Given the description of an element on the screen output the (x, y) to click on. 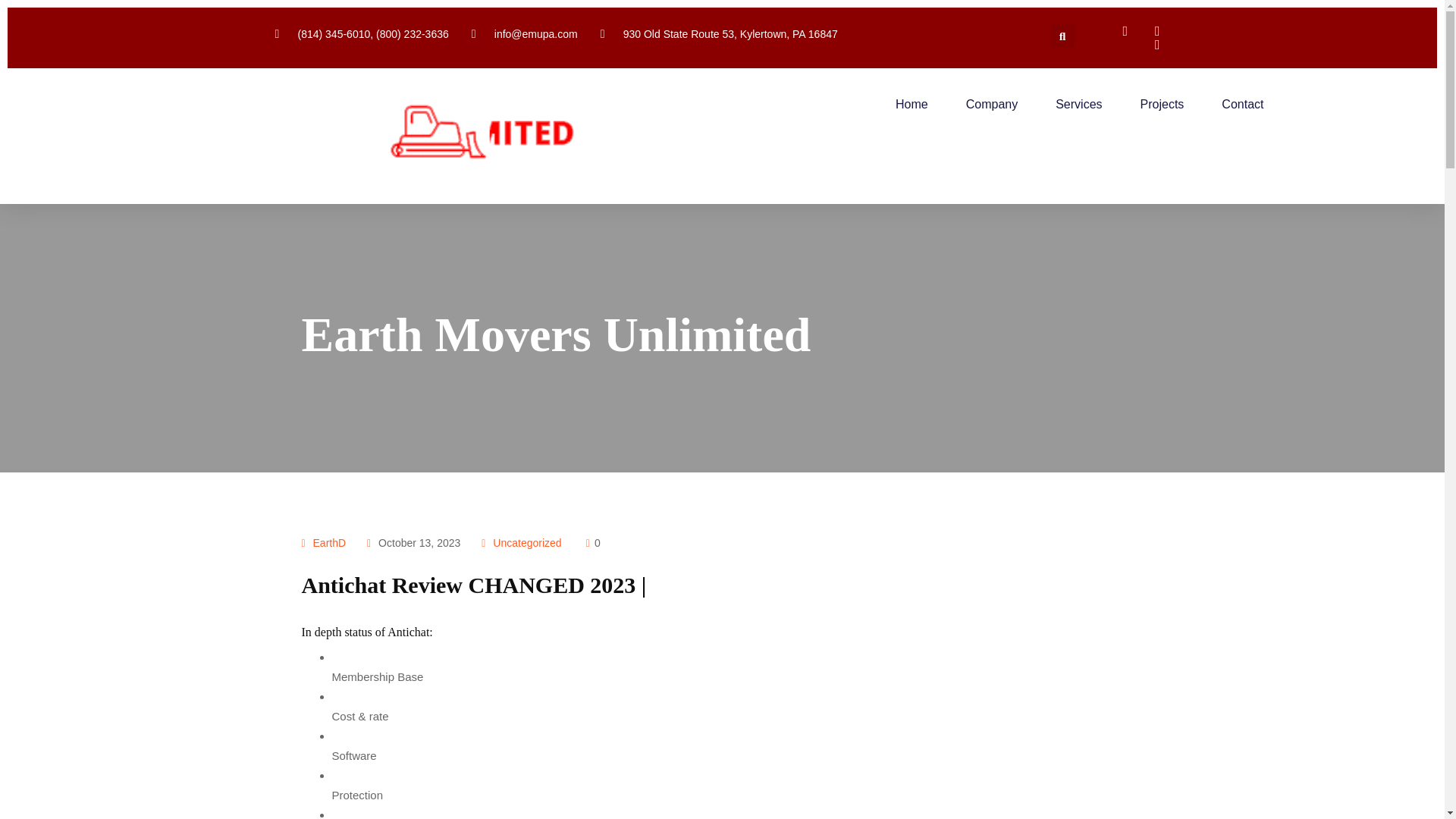
Home (911, 104)
Projects (1162, 104)
Services (1078, 104)
Company (991, 104)
Contact (1242, 104)
